Given the description of an element on the screen output the (x, y) to click on. 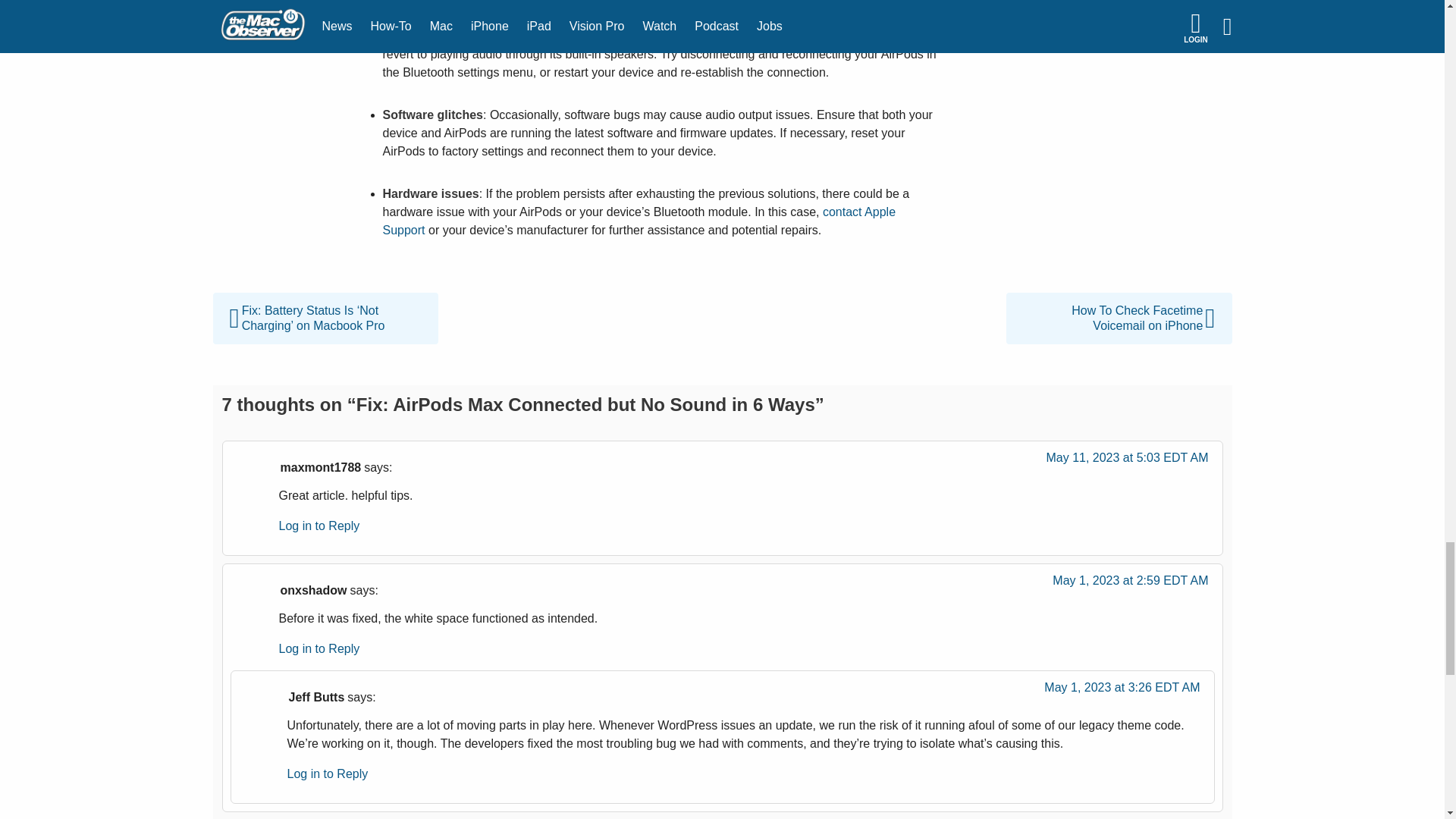
contact Apple Support (638, 220)
How To Check Facetime Voicemail on iPhone (1118, 300)
May 1, 2023 at 2:59 EDT AM (1130, 584)
Log in to Reply (319, 648)
Log in to Reply (319, 525)
May 1, 2023 at 3:26 EDT AM (1121, 691)
Log in to Reply (327, 773)
May 11, 2023 at 5:03 EDT AM (1126, 461)
